Given the description of an element on the screen output the (x, y) to click on. 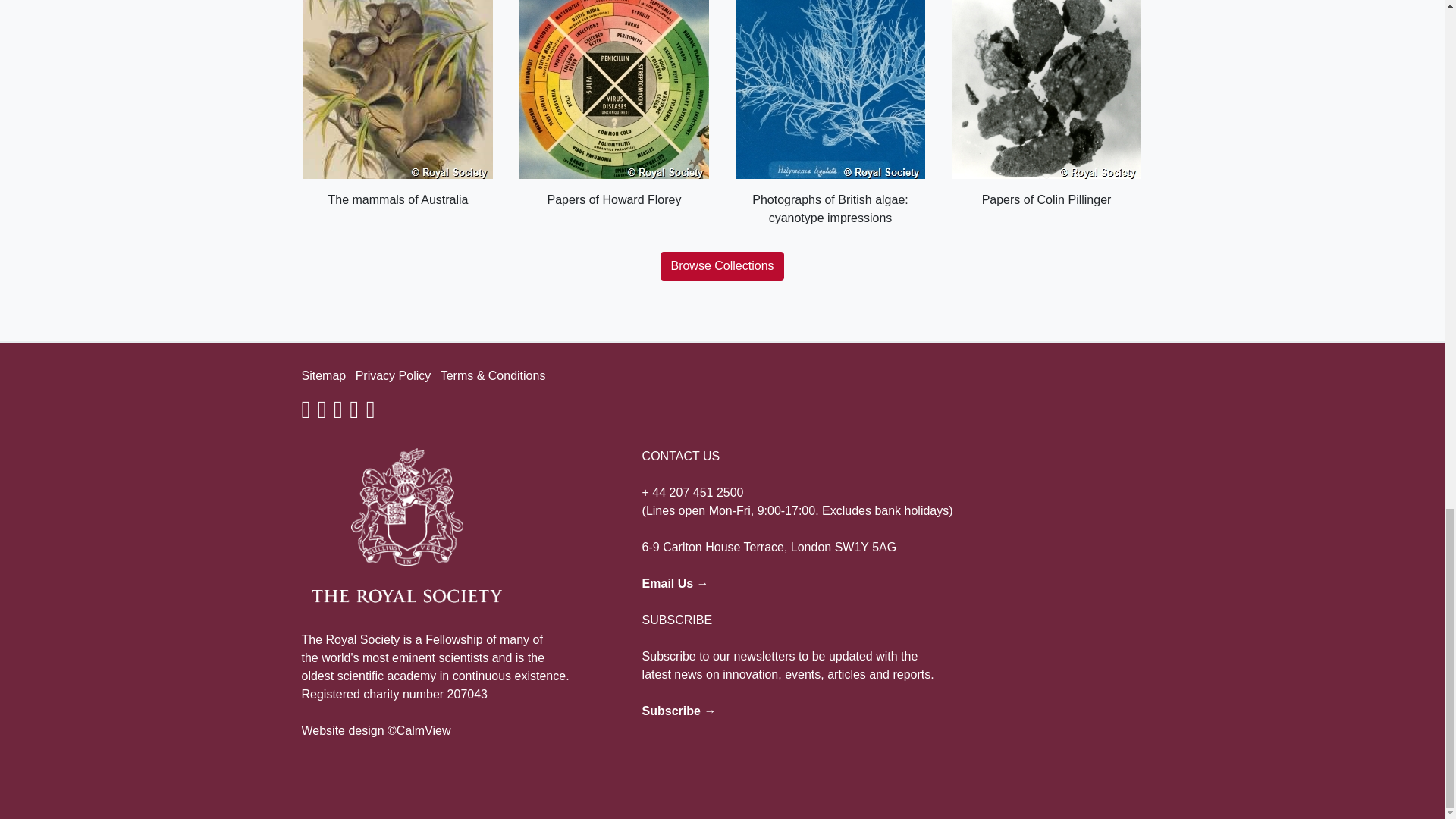
Browse Collections (722, 265)
The mammals of Australia (398, 104)
Privacy Policy (392, 375)
Papers of Colin Pillinger (1045, 104)
Papers of Howard Florey (613, 104)
Sitemap (323, 375)
